Given the description of an element on the screen output the (x, y) to click on. 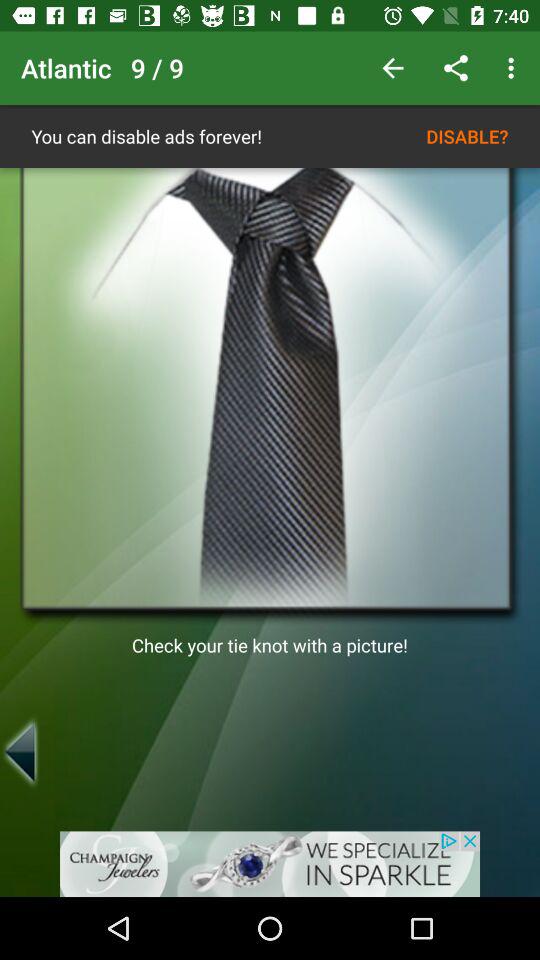
click on advertisement (270, 864)
